Given the description of an element on the screen output the (x, y) to click on. 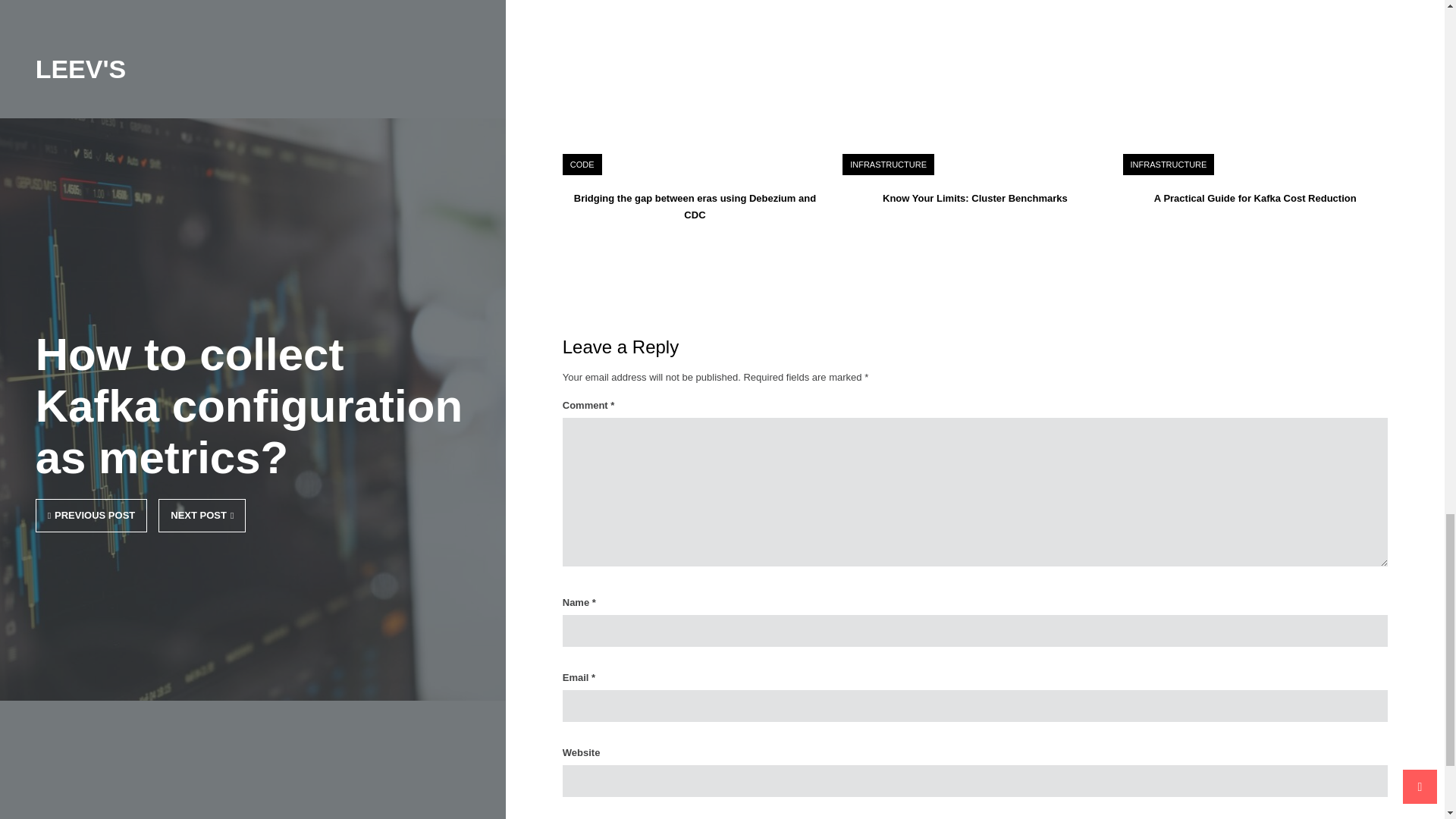
Know Your Limits: Cluster Benchmarks (974, 197)
INFRASTRUCTURE (1169, 163)
CODE (582, 163)
INFRASTRUCTURE (888, 163)
Bridging the gap between eras using Debezium and CDC (694, 206)
